Given the description of an element on the screen output the (x, y) to click on. 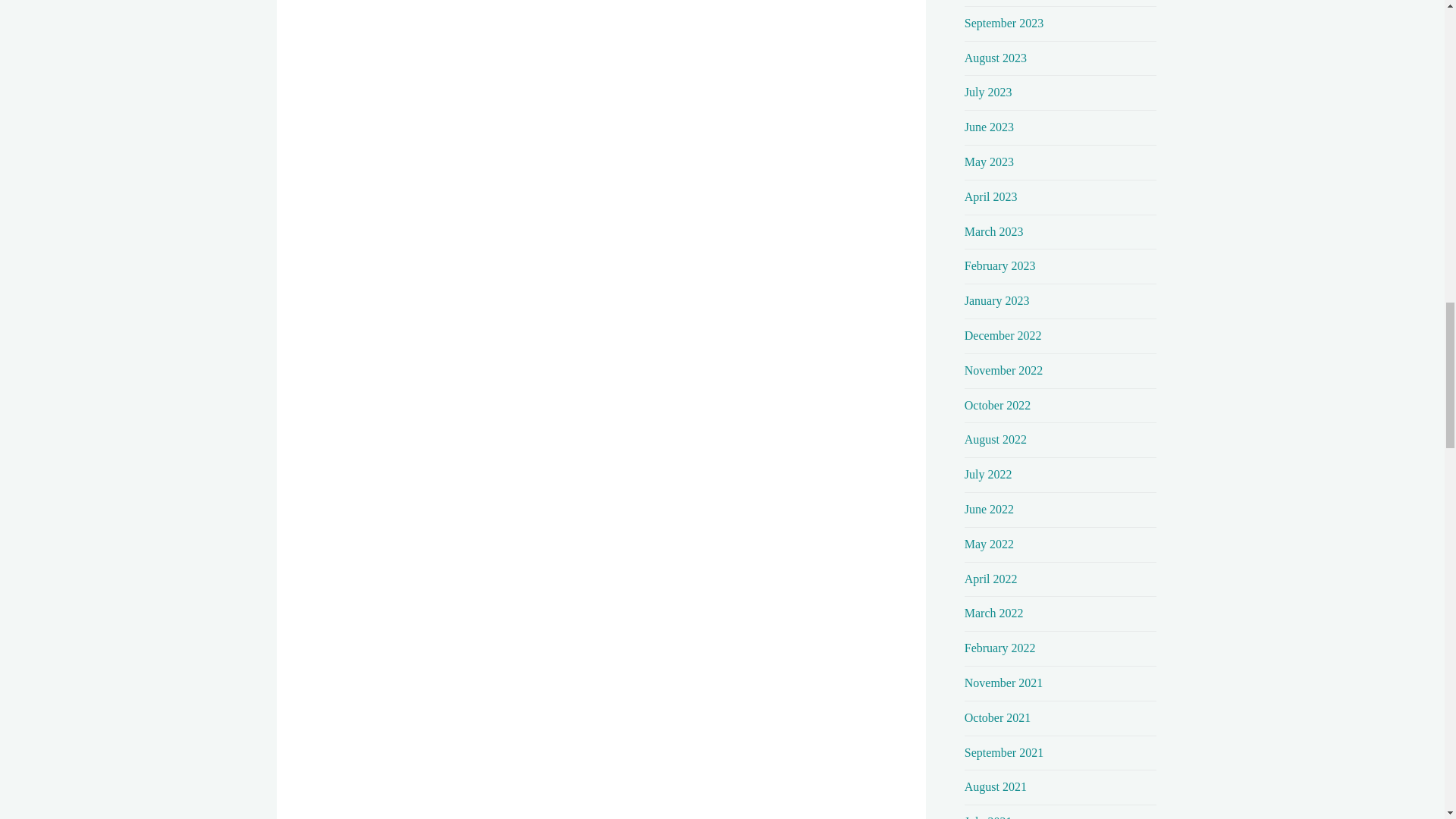
September 2023 (1003, 22)
August 2023 (994, 57)
April 2023 (990, 196)
May 2023 (988, 161)
June 2023 (988, 126)
March 2023 (993, 231)
July 2023 (987, 91)
